Given the description of an element on the screen output the (x, y) to click on. 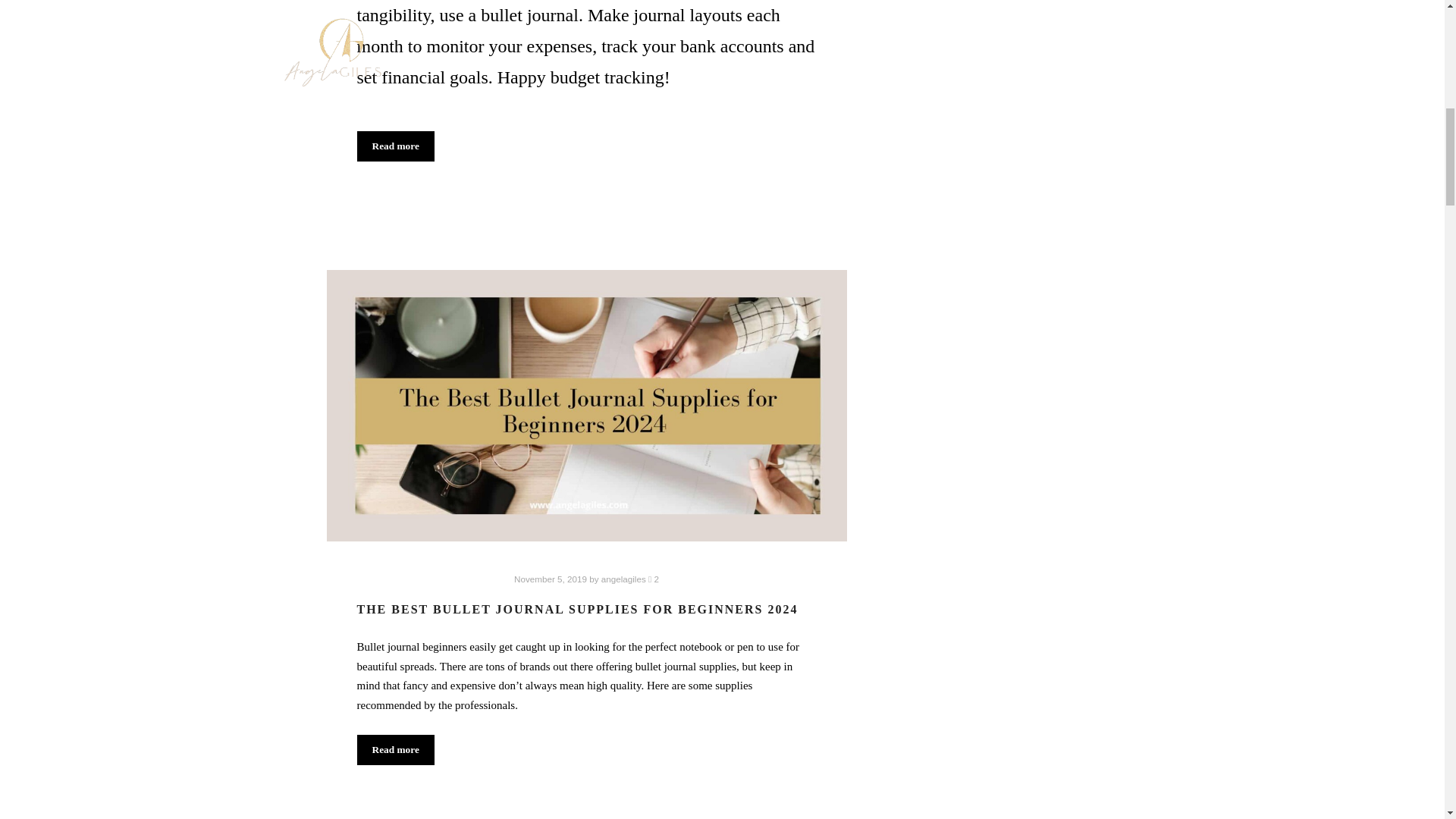
Read more (394, 749)
angelagiles (623, 578)
2 (653, 578)
Read more (394, 146)
View all posts by angelagiles (623, 578)
THE BEST BULLET JOURNAL SUPPLIES FOR BEGINNERS 2024 (576, 608)
